Given the description of an element on the screen output the (x, y) to click on. 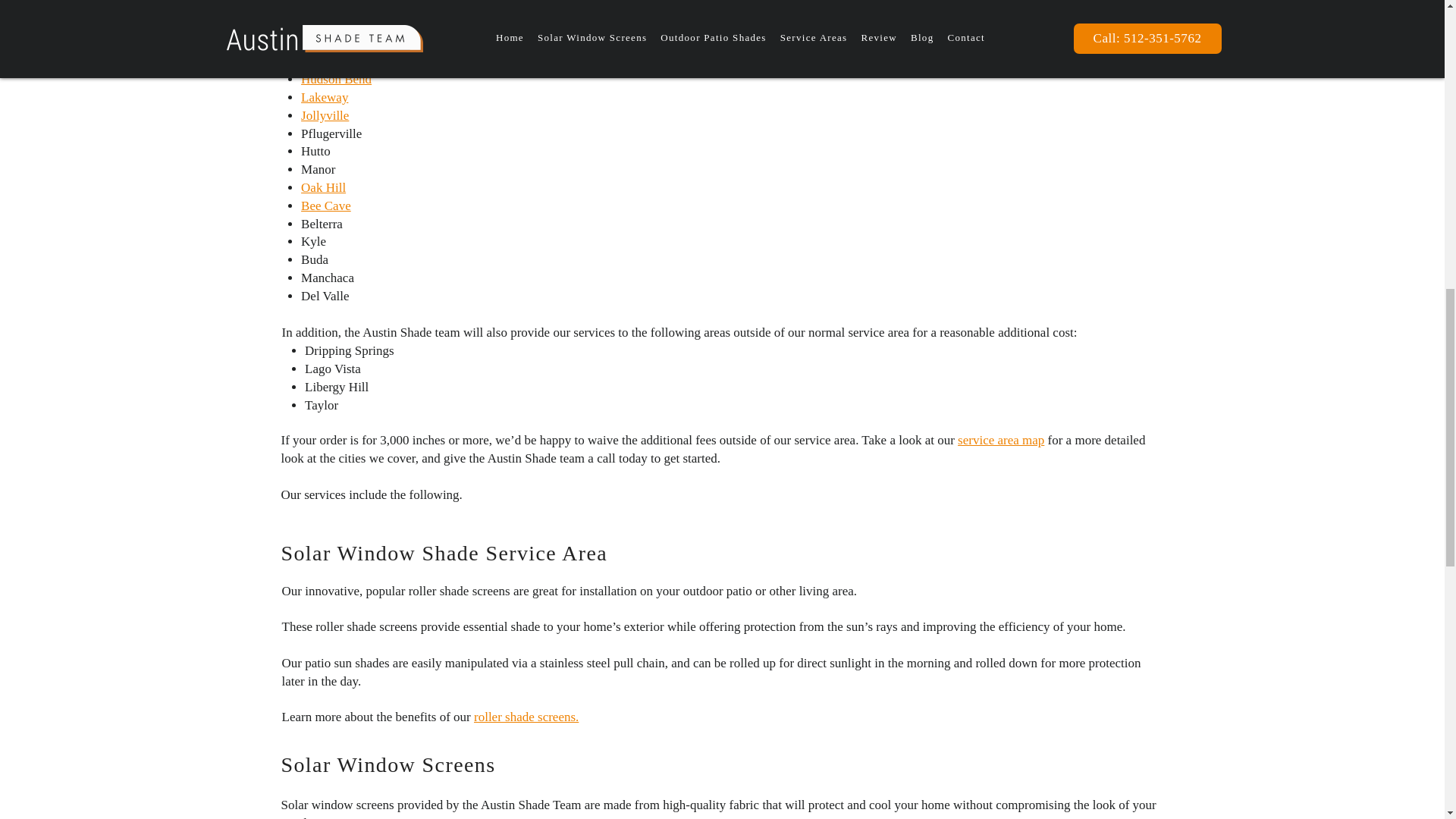
Round Rock (333, 7)
Bee Cave (325, 205)
Cedar Park (329, 60)
roller shade screens. (526, 716)
Oak Hill (323, 187)
service area map (1000, 440)
Lakeway (324, 97)
Jollyville (325, 115)
Hudson Bend (336, 79)
Crystal Falls (333, 43)
